Given the description of an element on the screen output the (x, y) to click on. 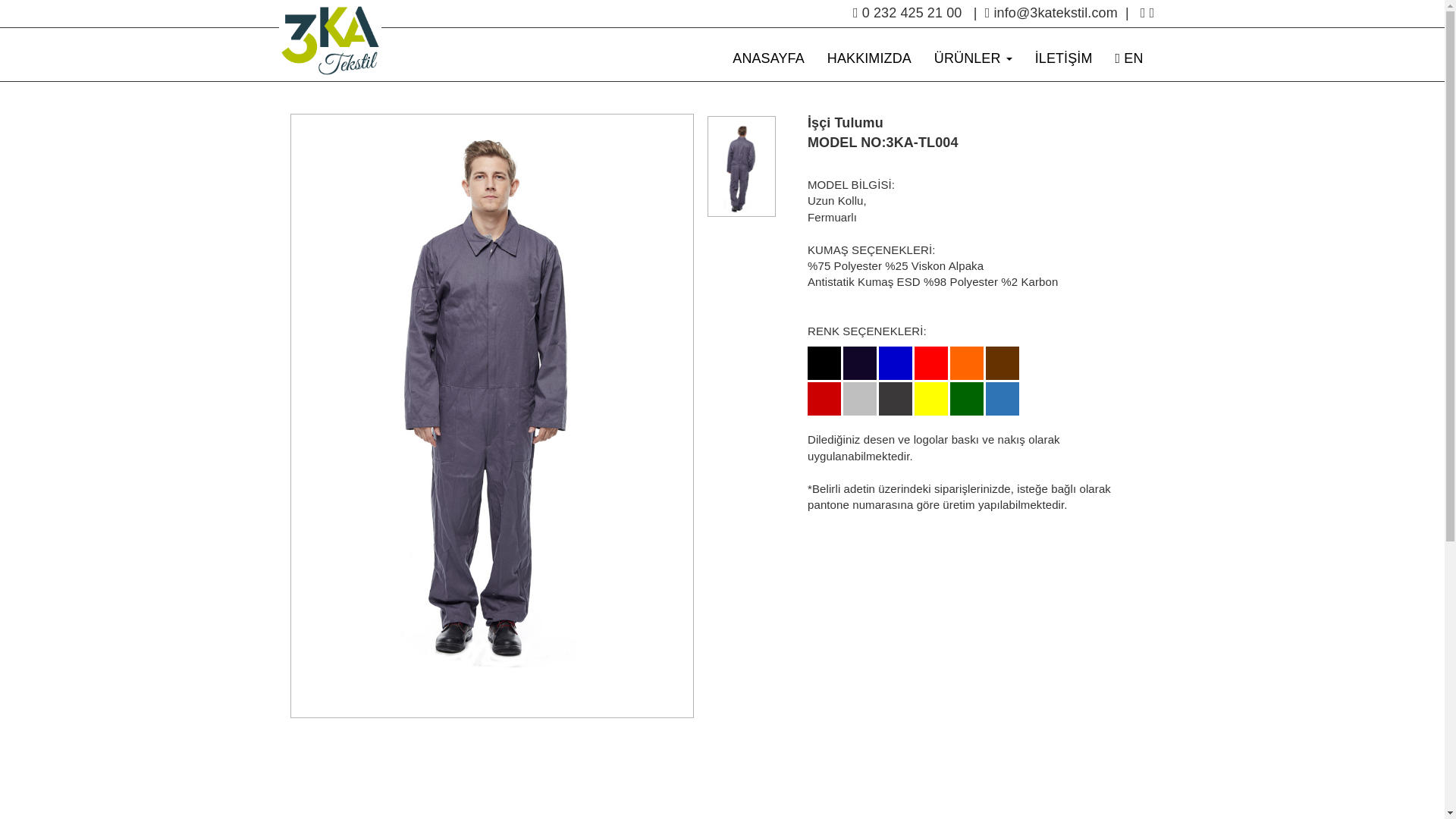
ANASAYFA Element type: text (768, 58)
HAKKIMIZDA Element type: text (868, 58)
EN Element type: text (1129, 58)
